Given the description of an element on the screen output the (x, y) to click on. 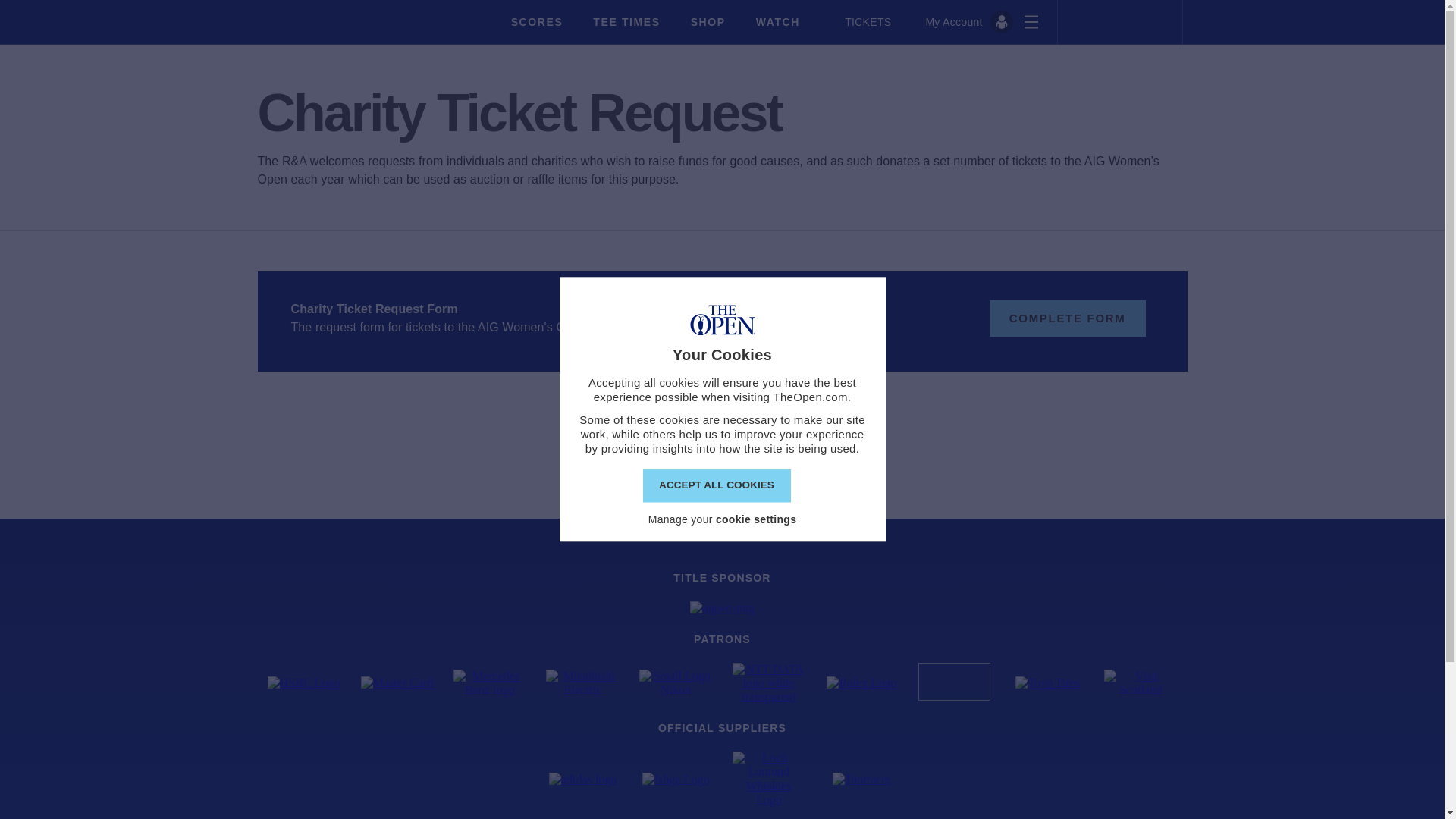
My Account (967, 21)
TICKETS (860, 21)
WATCH (777, 21)
TEE TIMES (625, 21)
SCORES (537, 21)
SHOP (707, 21)
